Given the description of an element on the screen output the (x, y) to click on. 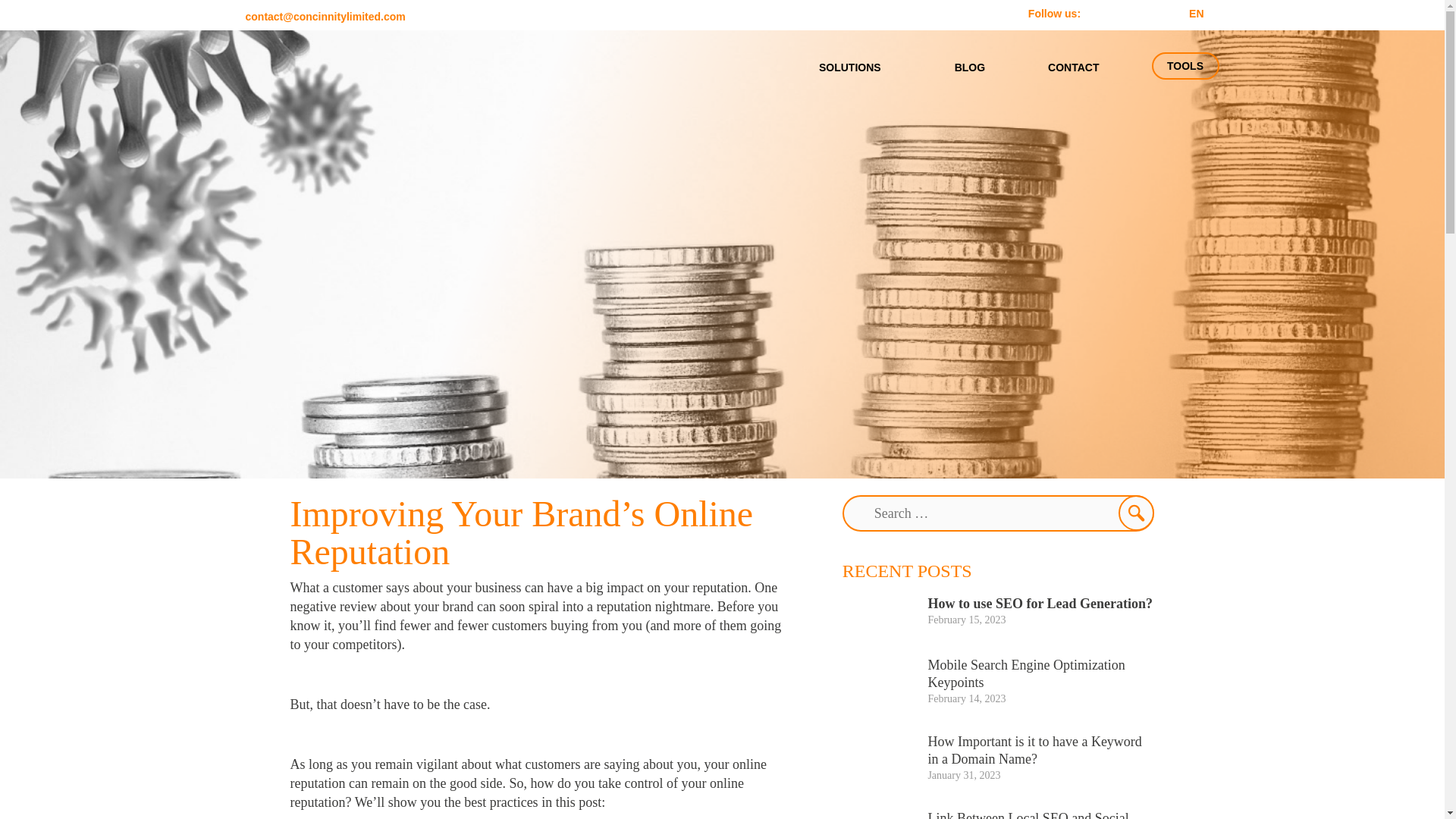
online reputation (515, 792)
How to use SEO for Lead Generation? (1040, 603)
CONTACT (1072, 67)
EN (1196, 13)
TOOLS (1185, 65)
Link Between Local SEO and Social Media Marketing Efforts (1027, 814)
Search for: (998, 513)
How Important is it to have a Keyword in a Domain Name? (1034, 749)
BLOG (969, 67)
SOLUTIONS (855, 67)
Mobile Search Engine Optimization Keypoints (1025, 673)
